Given the description of an element on the screen output the (x, y) to click on. 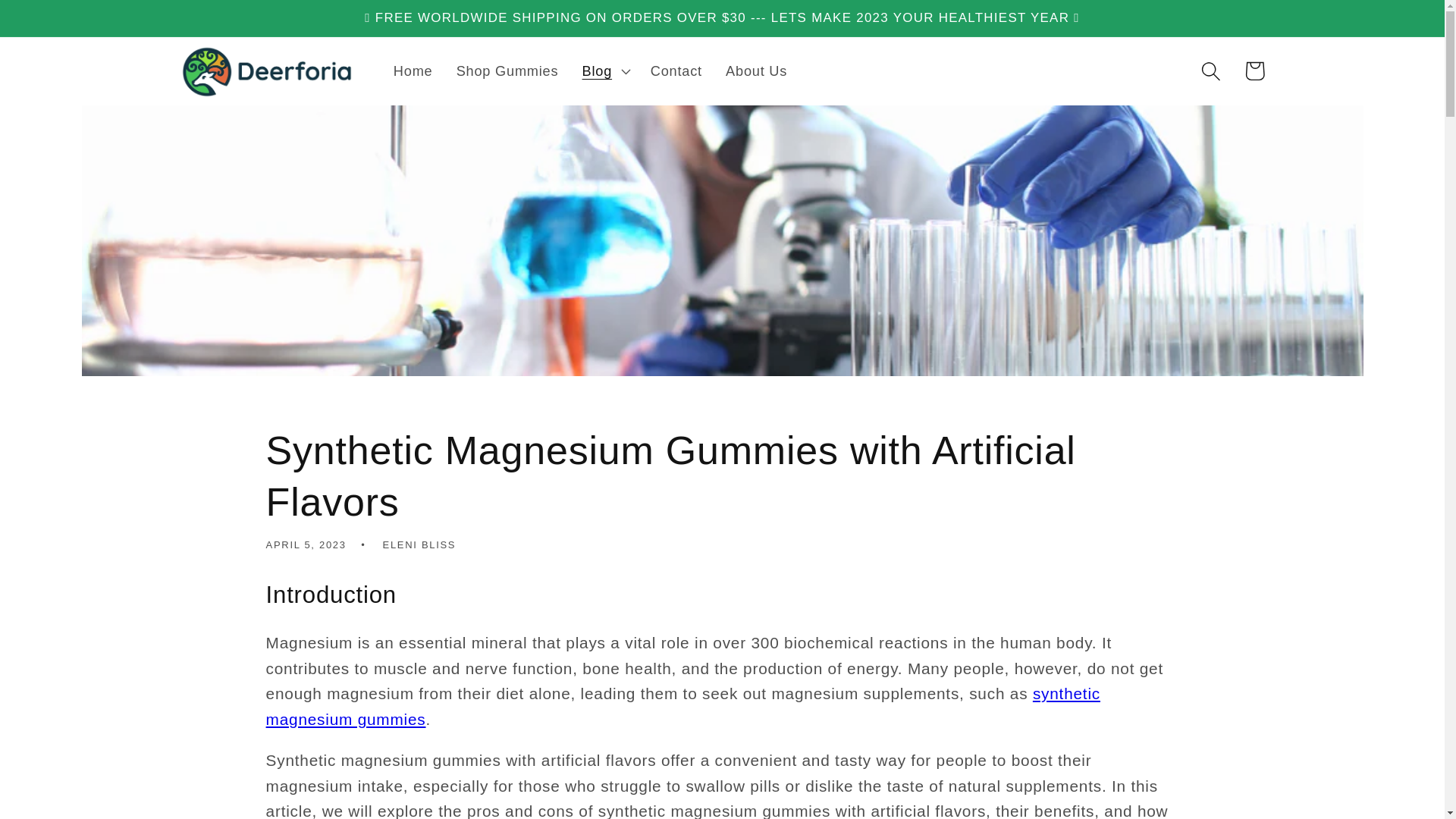
Skip to content (59, 22)
